Given the description of an element on the screen output the (x, y) to click on. 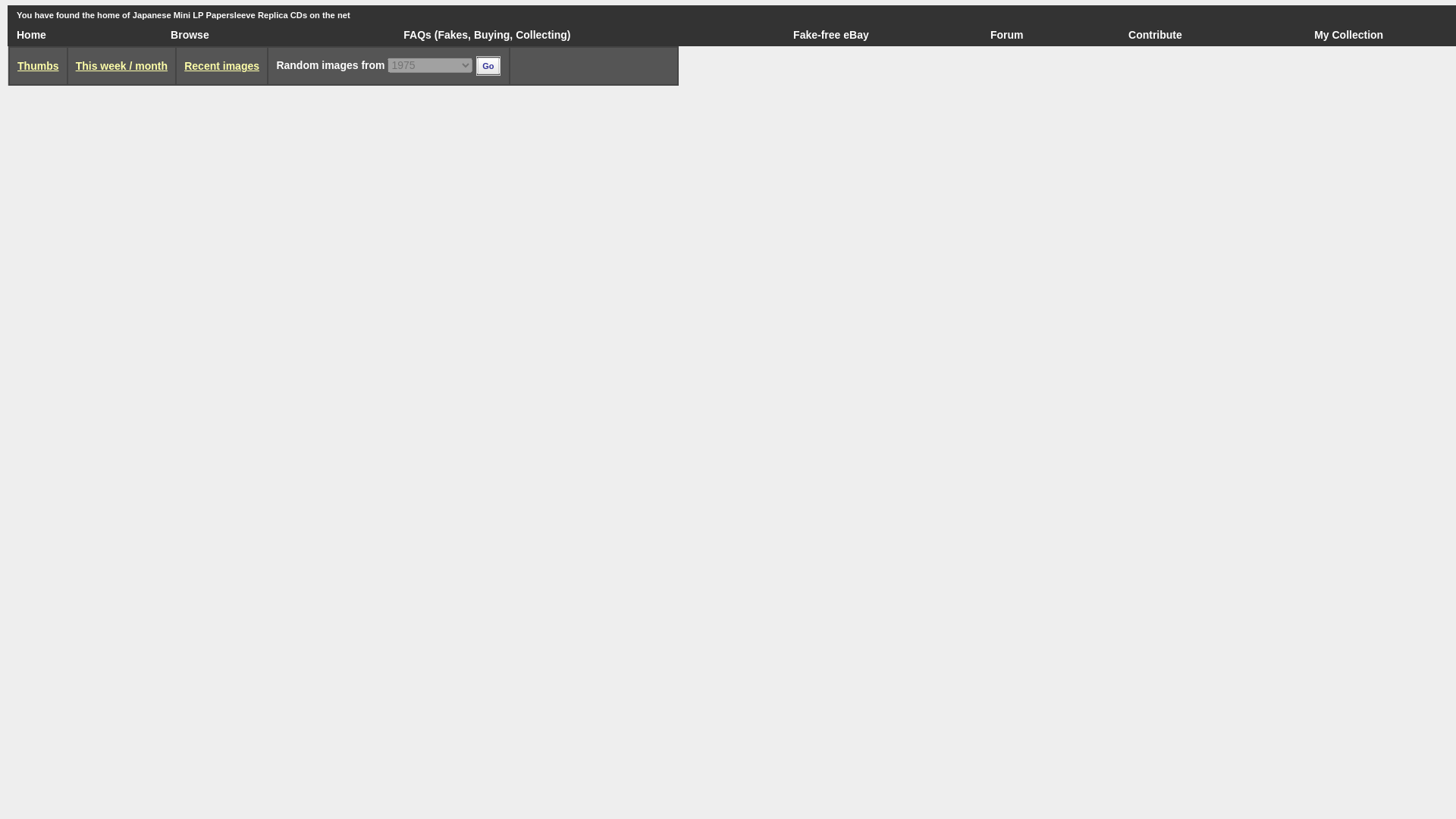
Recent images (221, 65)
My Collection (1348, 34)
Forum (1006, 34)
Thumbs (37, 65)
Buying Mini LPs (491, 34)
Browse (189, 34)
Buying (491, 34)
Frequently asked questions (416, 34)
Browse (189, 34)
FAQs (416, 34)
Go (487, 66)
Watch out for fake Mini LPs (452, 34)
Contribute to the site (1155, 34)
Collecting (541, 34)
